Given the description of an element on the screen output the (x, y) to click on. 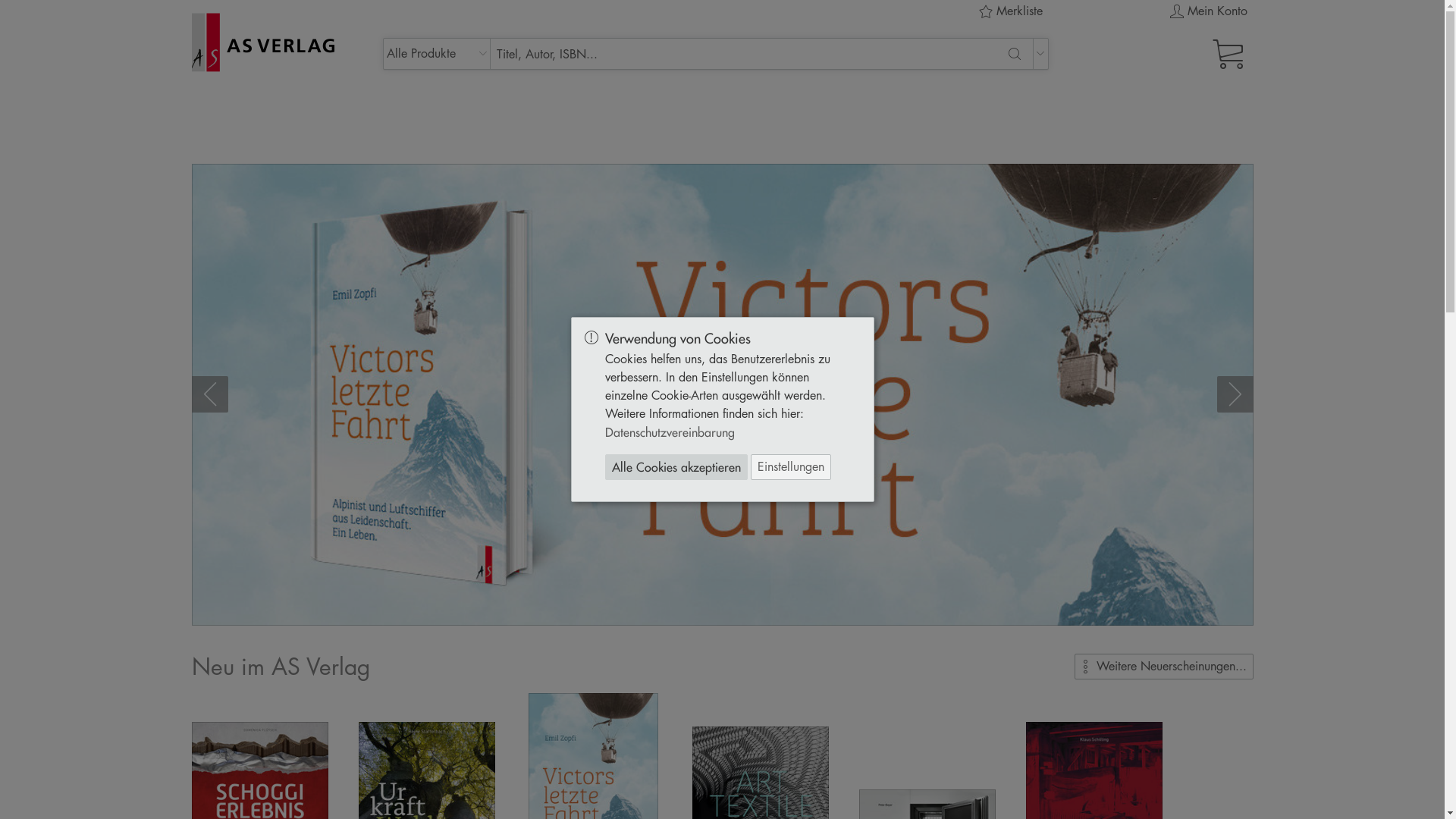
Mein Konto Element type: text (1208, 11)
Zum Warenkorb Element type: hover (1230, 40)
Suchen Element type: hover (1014, 53)
Einstellungen Element type: text (790, 467)
Zum Warenkorb Element type: hover (1165, 53)
Zur Homepage Element type: hover (271, 42)
Alle Cookies akzeptieren Element type: text (676, 467)
Datenschutzvereinbarung Element type: text (669, 431)
Weiter Element type: hover (1234, 394)
Weitere Neuerscheinungen... Element type: text (1162, 666)
Anmelden Element type: text (1165, 41)
Erweiterte Suche Element type: hover (715, 53)
Merkliste Element type: text (1010, 11)
